Given the description of an element on the screen output the (x, y) to click on. 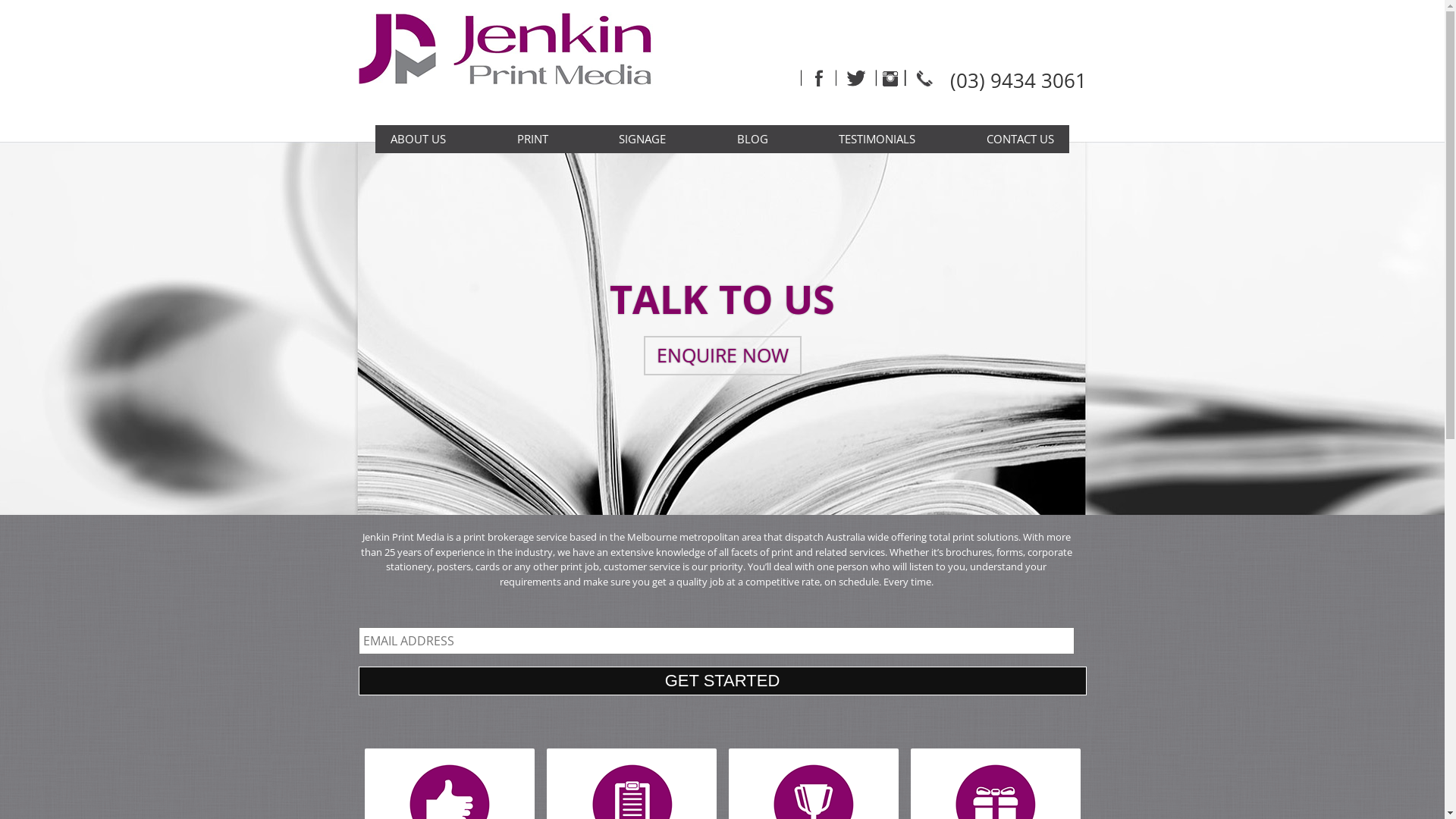
GET STARTED Element type: text (721, 680)
TESTIMONIALS Element type: text (876, 139)
PRINT Element type: text (532, 139)
ABOUT US Element type: text (417, 139)
SIGNAGE Element type: text (641, 139)
Jenkin Print Group Element type: text (514, 62)
CONTACT US Element type: text (1020, 139)
ENQUIRE NOW Element type: text (721, 355)
BLOG Element type: text (752, 139)
